Given the description of an element on the screen output the (x, y) to click on. 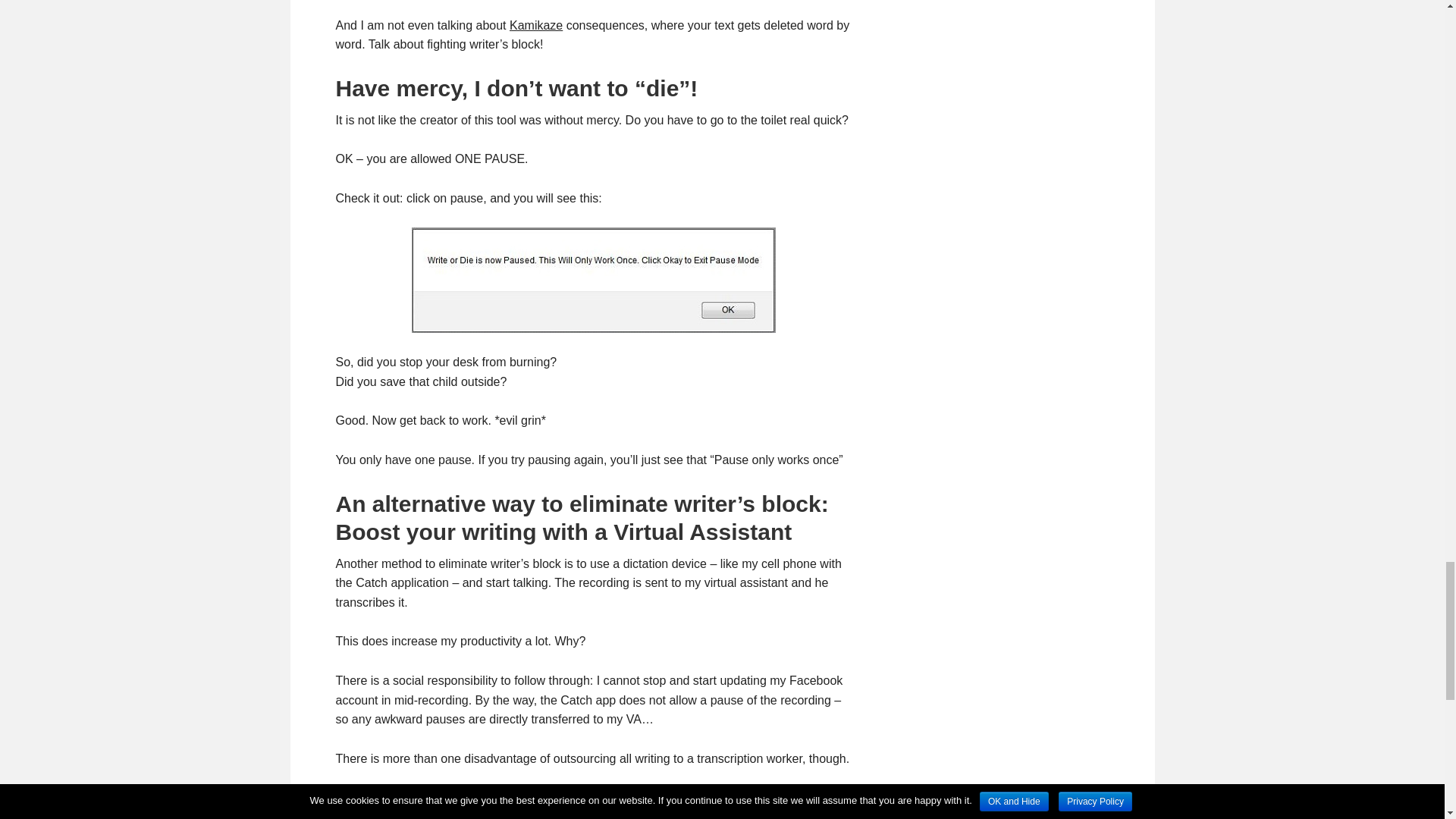
Write or Die pause notification (592, 279)
